Given the description of an element on the screen output the (x, y) to click on. 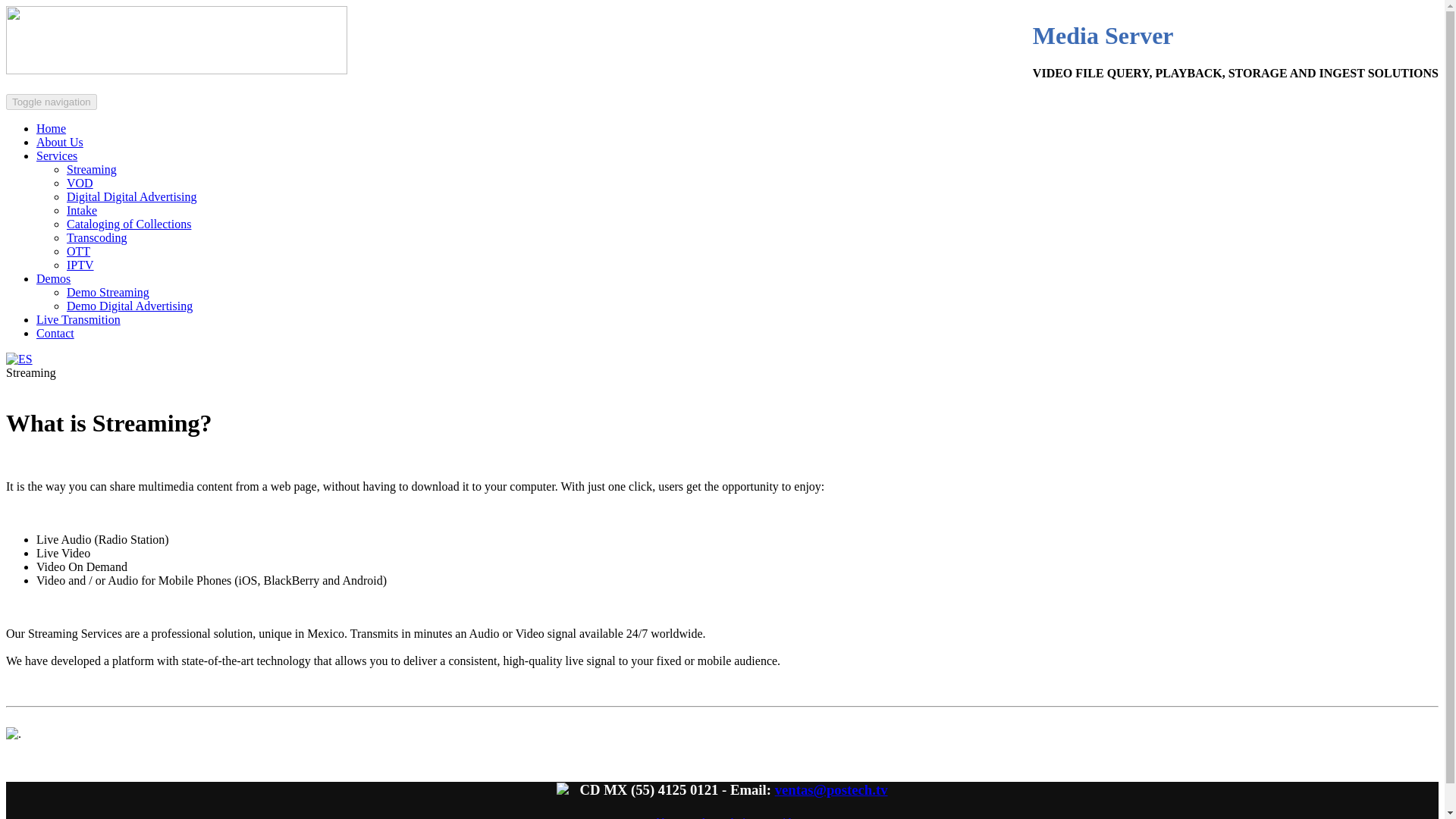
Streaming (91, 169)
Toggle navigation (51, 101)
OTT (78, 250)
Digital Digital Advertising (131, 196)
Home (50, 128)
Demos (52, 278)
Demo Digital Advertising (129, 305)
Demo Streaming (107, 291)
Cataloging of Collections (128, 223)
Live Transmition (78, 318)
VOD (79, 182)
Transcoding (96, 237)
About Us (59, 141)
Contact (55, 332)
IPTV (80, 264)
